Given the description of an element on the screen output the (x, y) to click on. 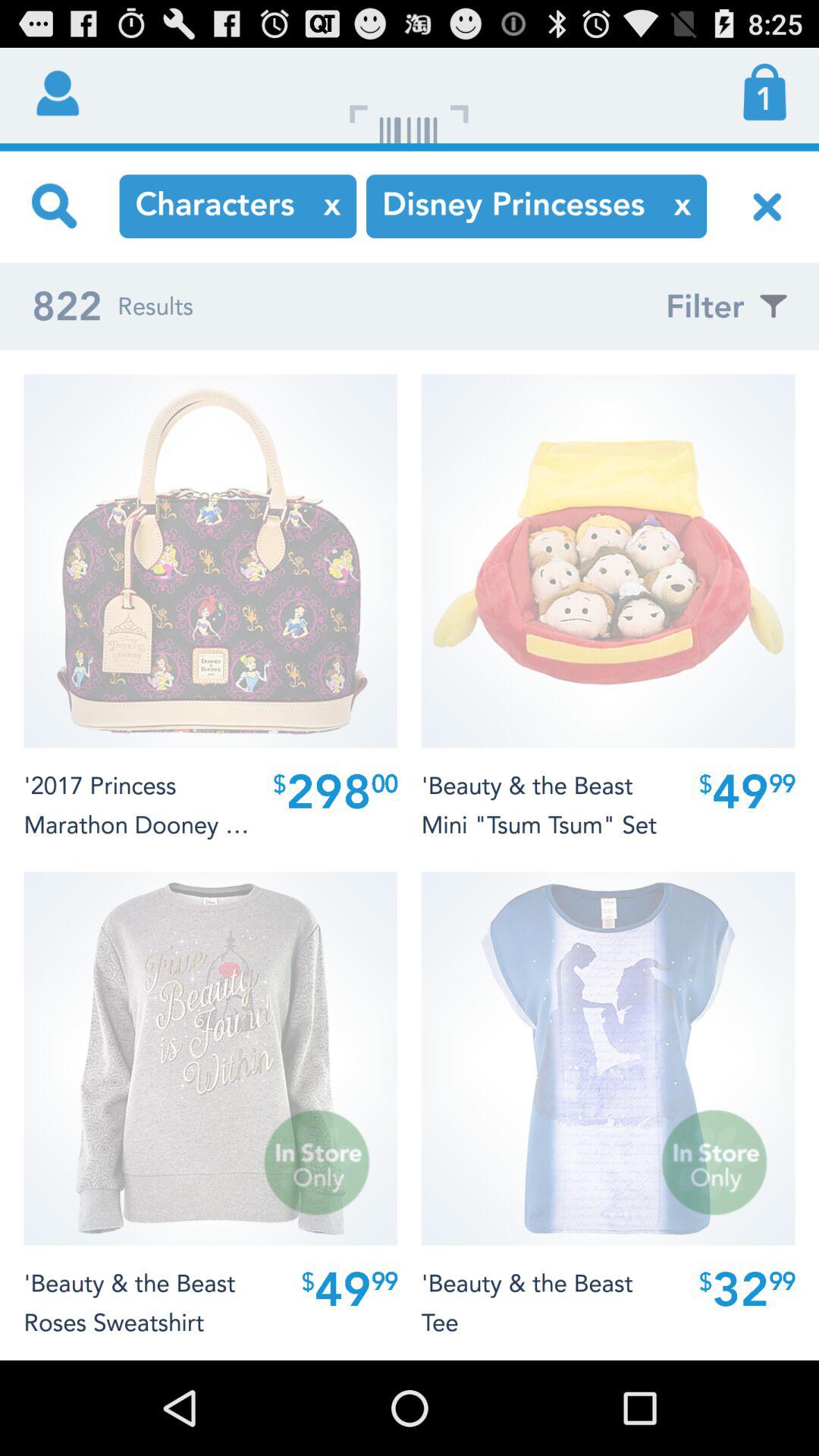
click on first image (210, 561)
click on the third image (210, 1059)
